Given the description of an element on the screen output the (x, y) to click on. 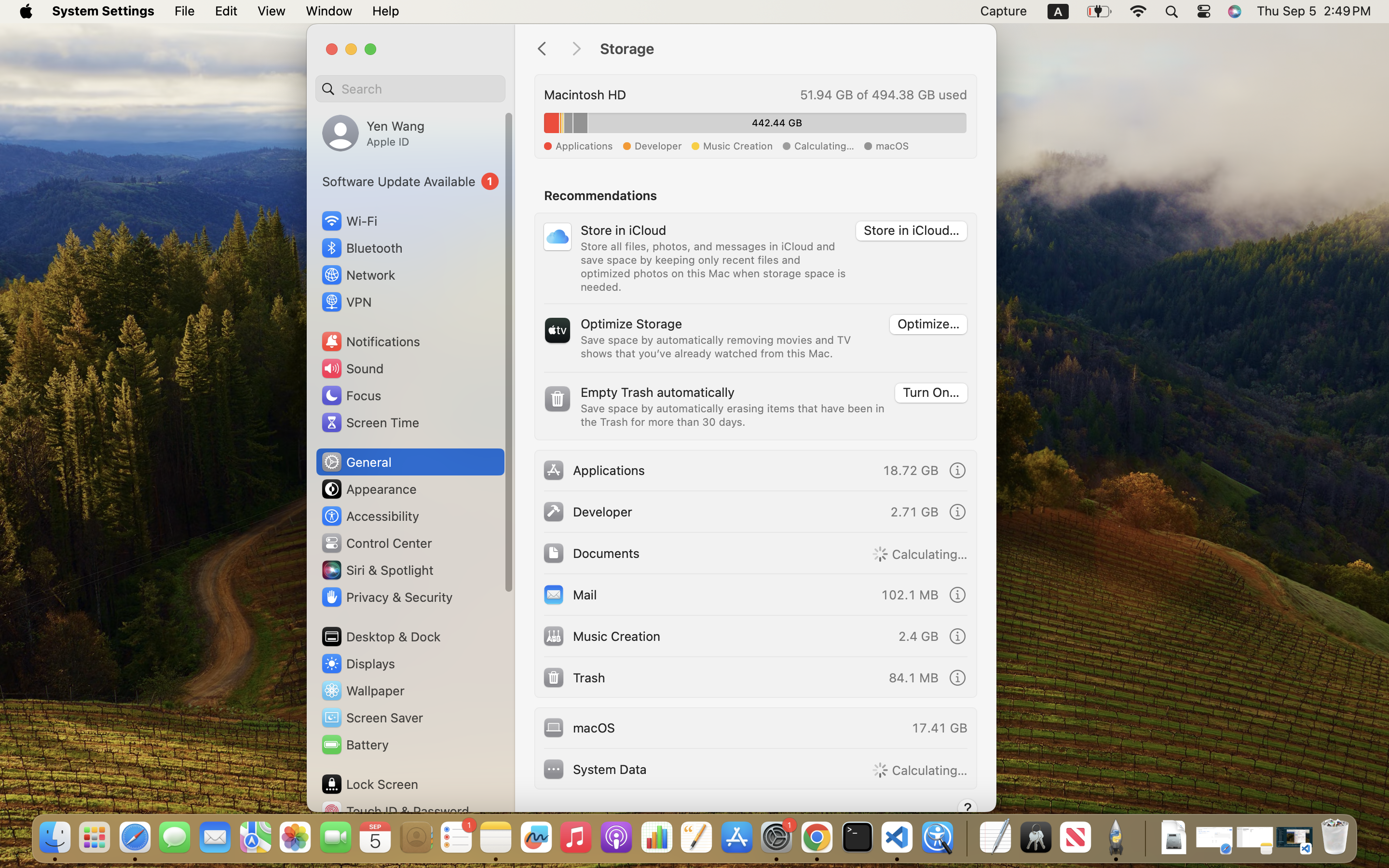
Optimize Storage Element type: AXStaticText (630, 322)
Macintosh HD Element type: AXStaticText (585, 94)
51.94 GB of 494.38 GB used Element type: AXStaticText (882, 94)
Mail Element type: AXStaticText (569, 593)
Screen Time Element type: AXStaticText (369, 422)
